Given the description of an element on the screen output the (x, y) to click on. 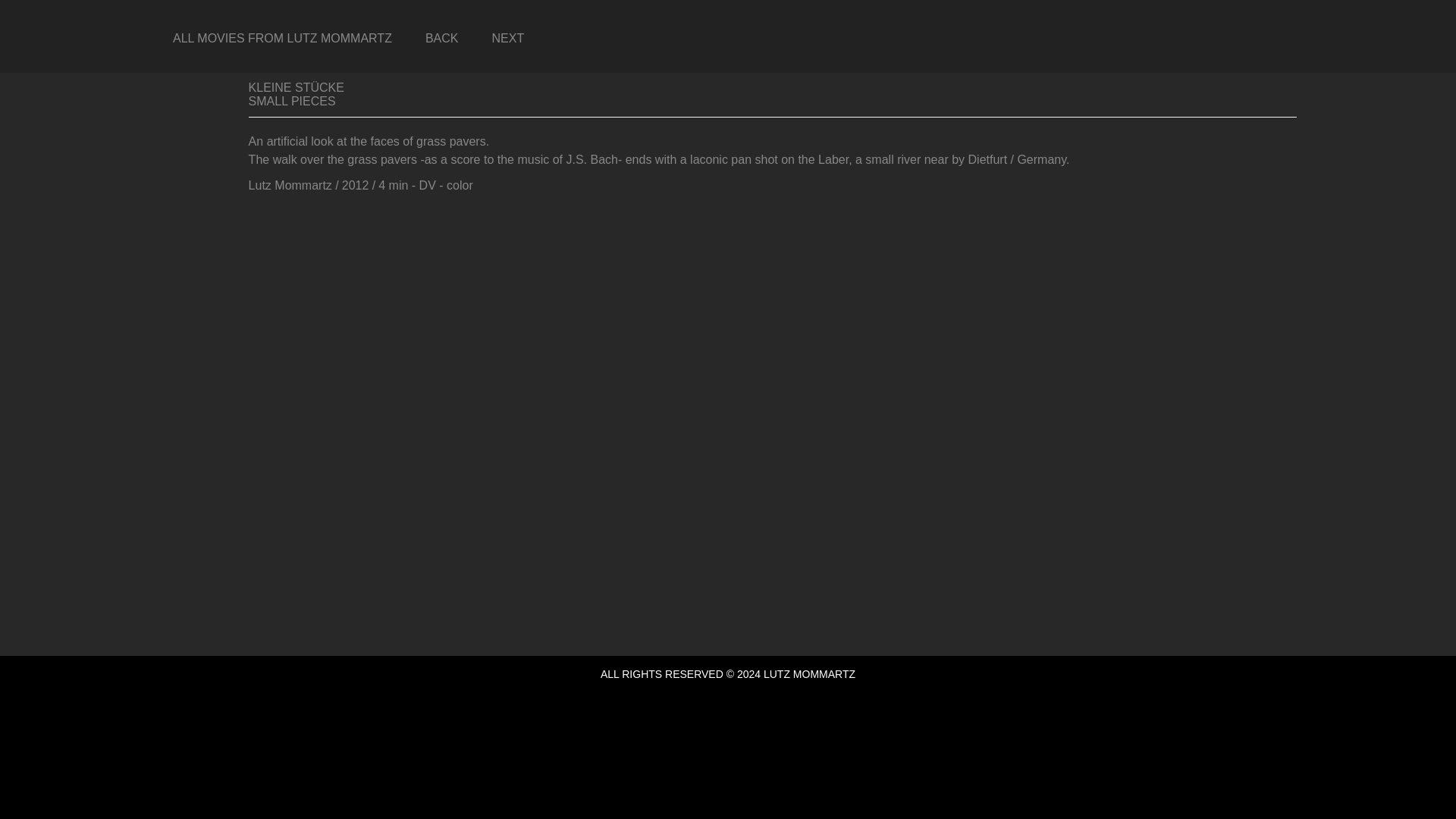
BACK (442, 38)
ALL MOVIES FROM LUTZ MOMMARTZ (282, 38)
NEXT (507, 38)
LUTZ MOMMARTZ (808, 674)
